Given the description of an element on the screen output the (x, y) to click on. 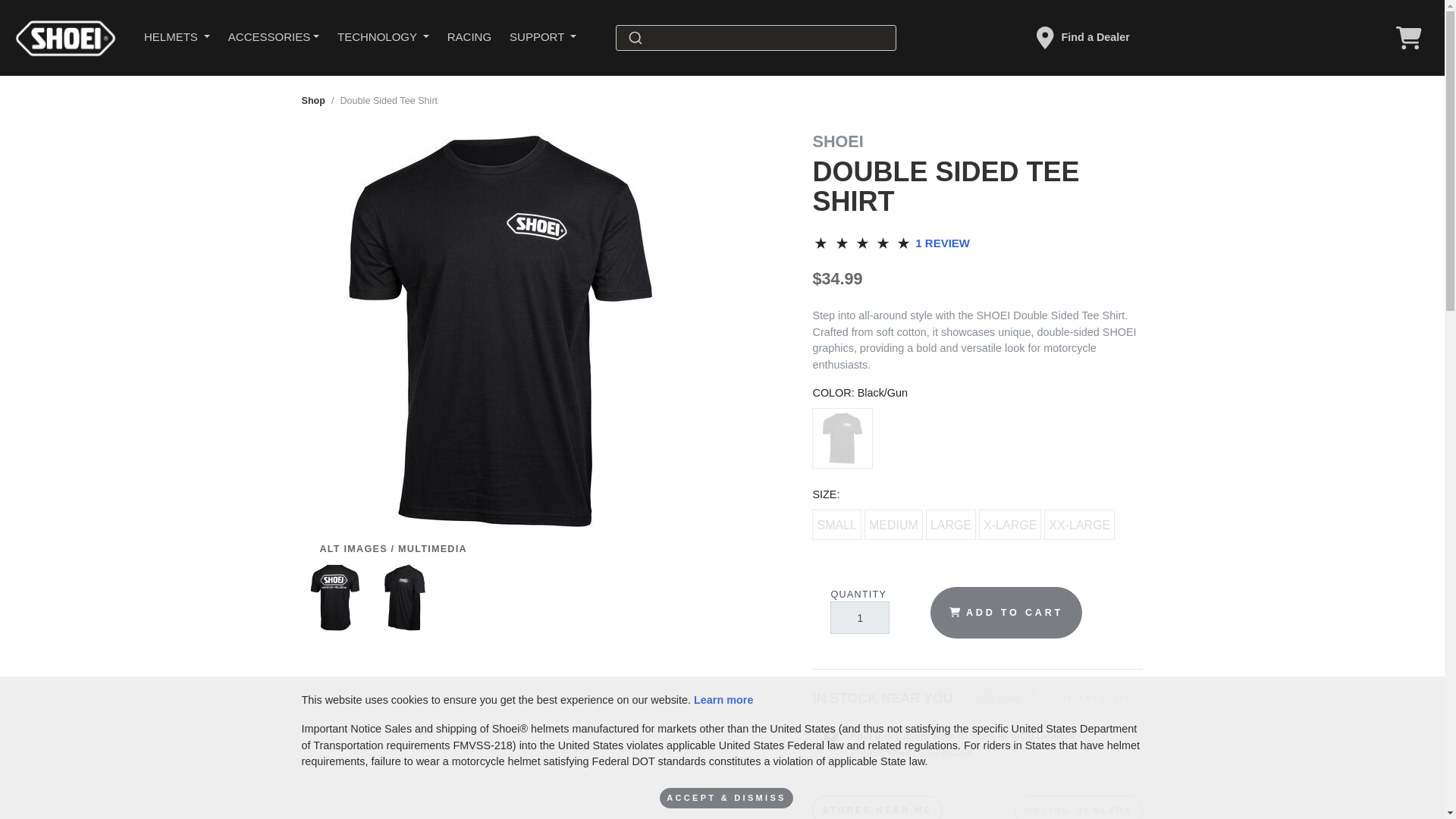
ACCESSORIES (274, 37)
913 (931, 514)
1 (858, 617)
915 (1048, 514)
Find a Dealer (1078, 37)
TECHNOLOGY (383, 37)
912 (869, 514)
RACING (469, 37)
911 (817, 514)
1067 (817, 412)
914 (983, 514)
SUPPORT (542, 37)
Submit (633, 37)
HELMETS (177, 37)
